Given the description of an element on the screen output the (x, y) to click on. 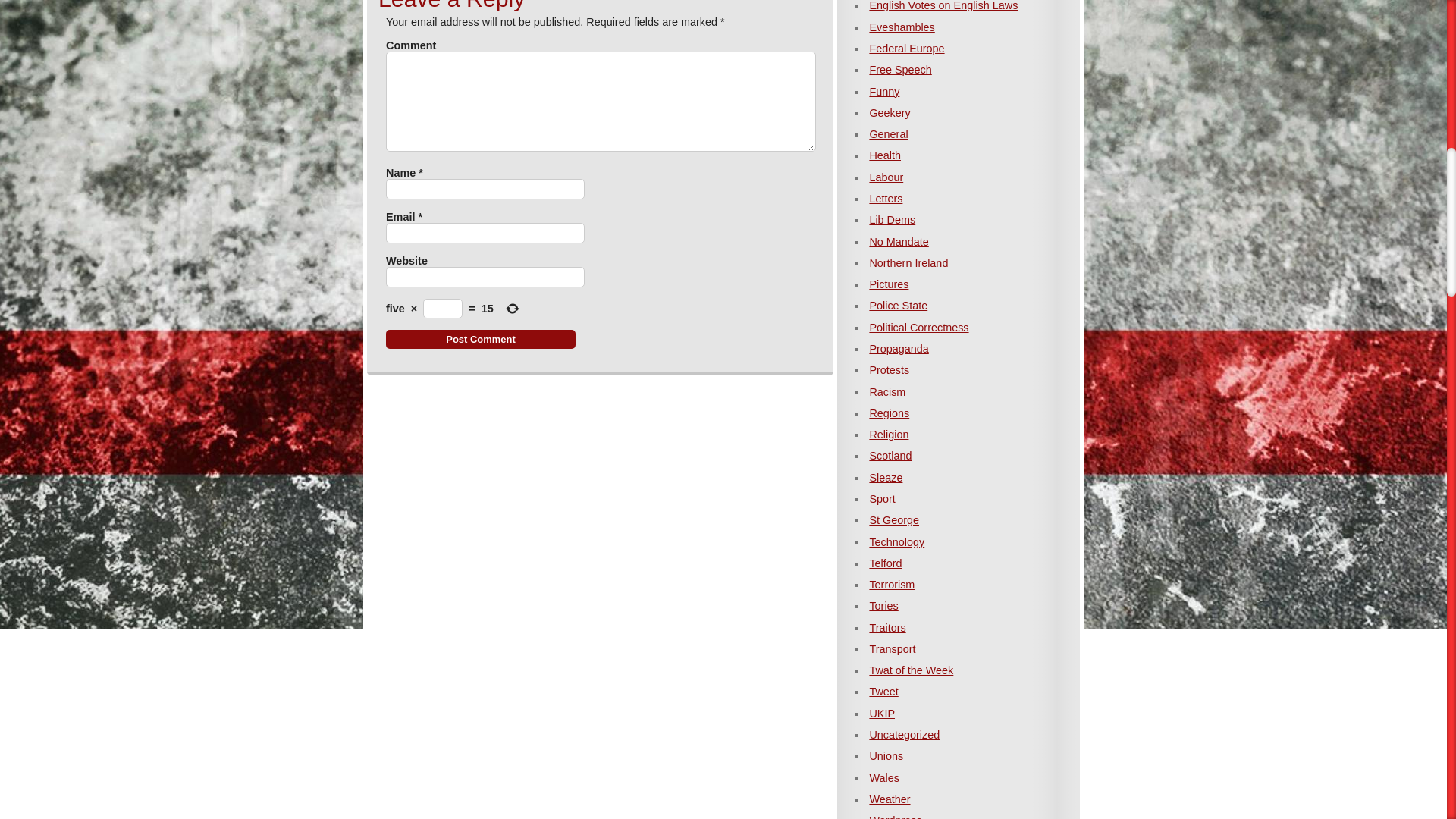
Federal Europe (906, 48)
Funny (884, 91)
English Votes on English Laws (943, 5)
Post Comment (480, 339)
Eveshambles (901, 27)
Post Comment (480, 339)
Geekery (889, 112)
General (888, 133)
Free Speech (900, 69)
